Given the description of an element on the screen output the (x, y) to click on. 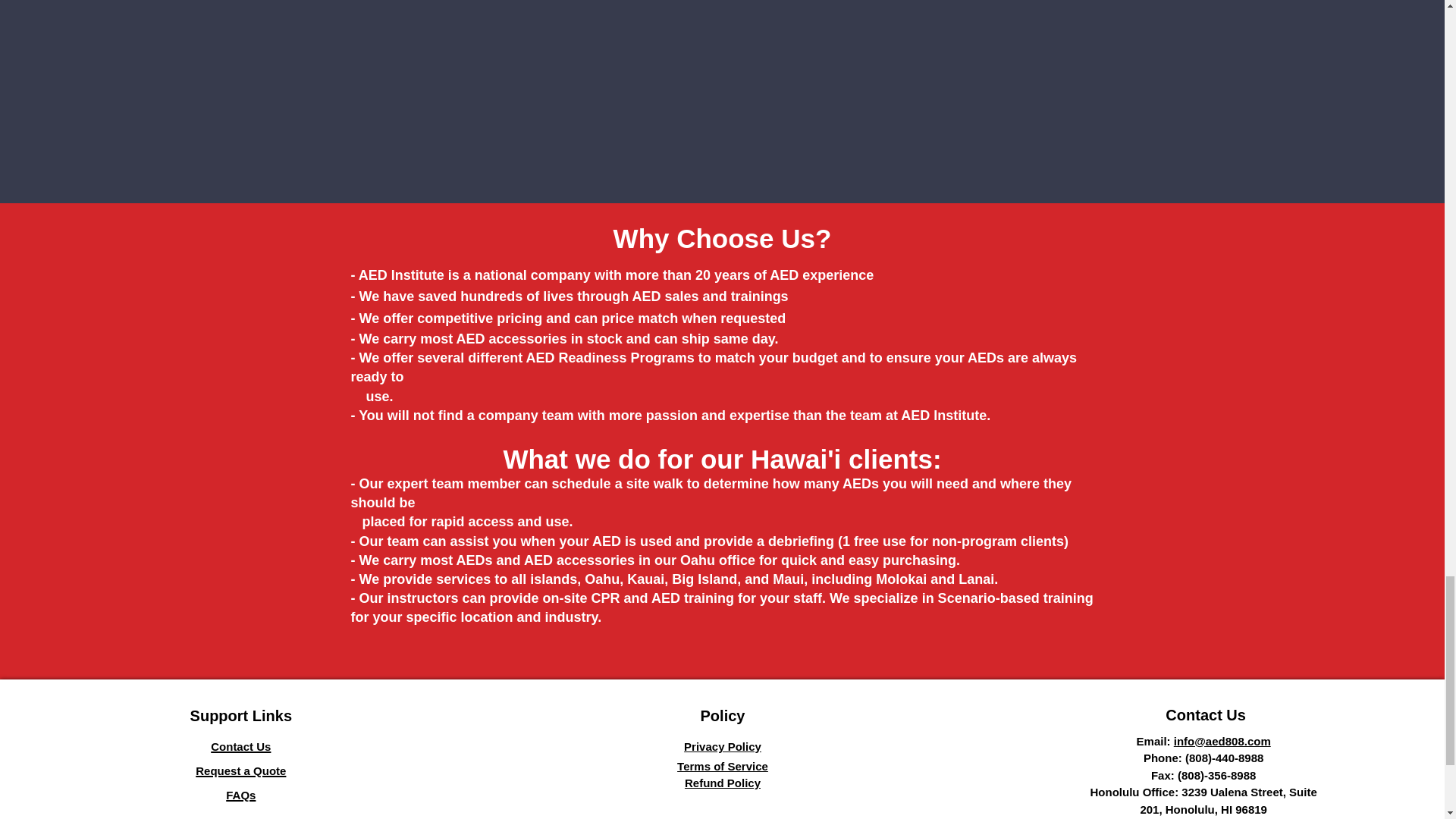
Contact Us (240, 745)
Refund Policy (722, 782)
Terms of Service (722, 766)
FAQs (240, 793)
Request a Quote (240, 769)
Privacy Policy (722, 746)
